Given the description of an element on the screen output the (x, y) to click on. 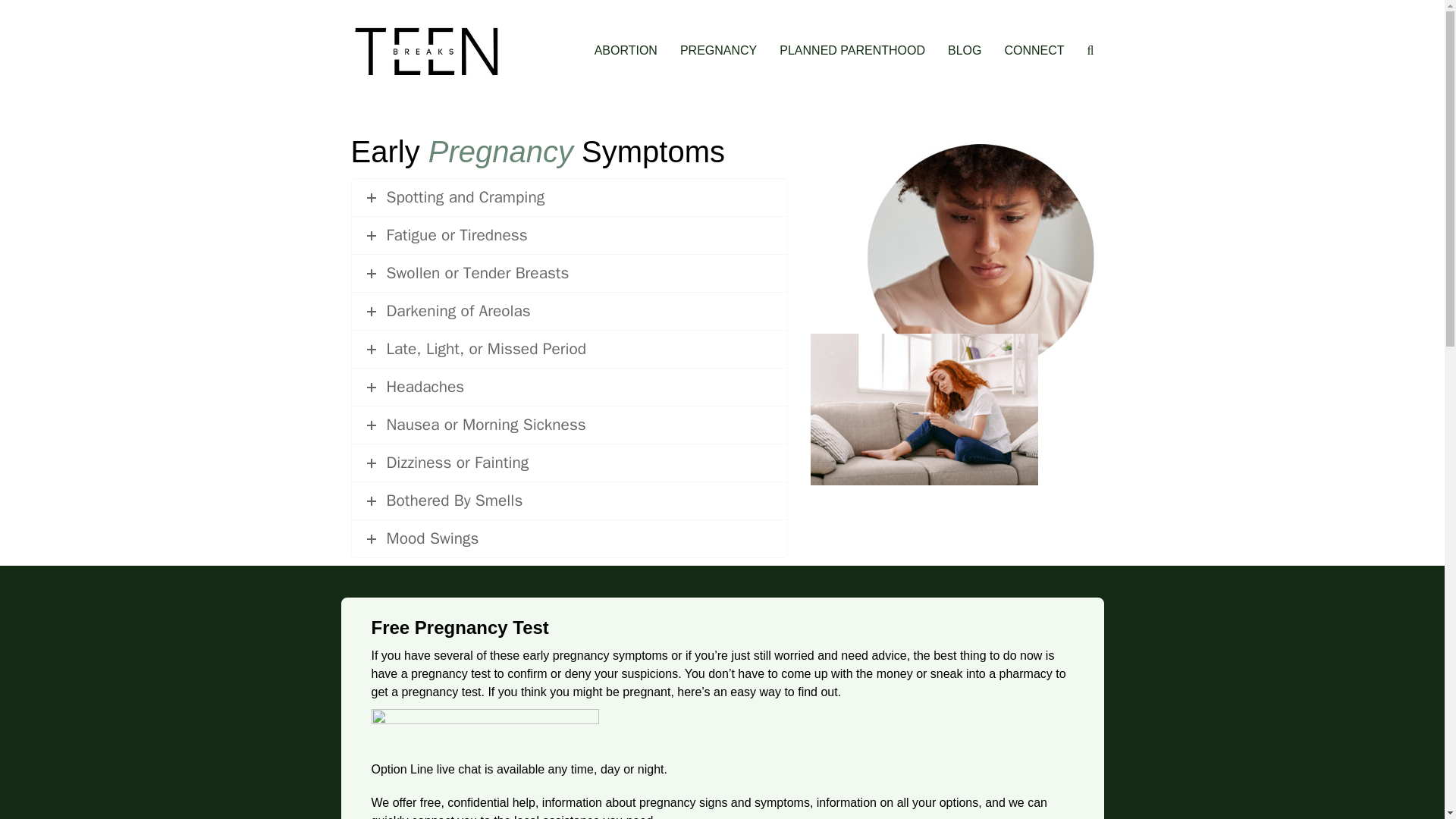
Bothered By Smells (569, 500)
ABORTION (625, 51)
Spotting and Cramping (569, 197)
Dizziness or Fainting (569, 462)
BLOG (964, 51)
Nausea or Morning Sickness (569, 424)
PLANNED PARENTHOOD (852, 51)
PREGNANCY (718, 51)
CONNECT (1033, 51)
Mood Swings (569, 538)
